Given the description of an element on the screen output the (x, y) to click on. 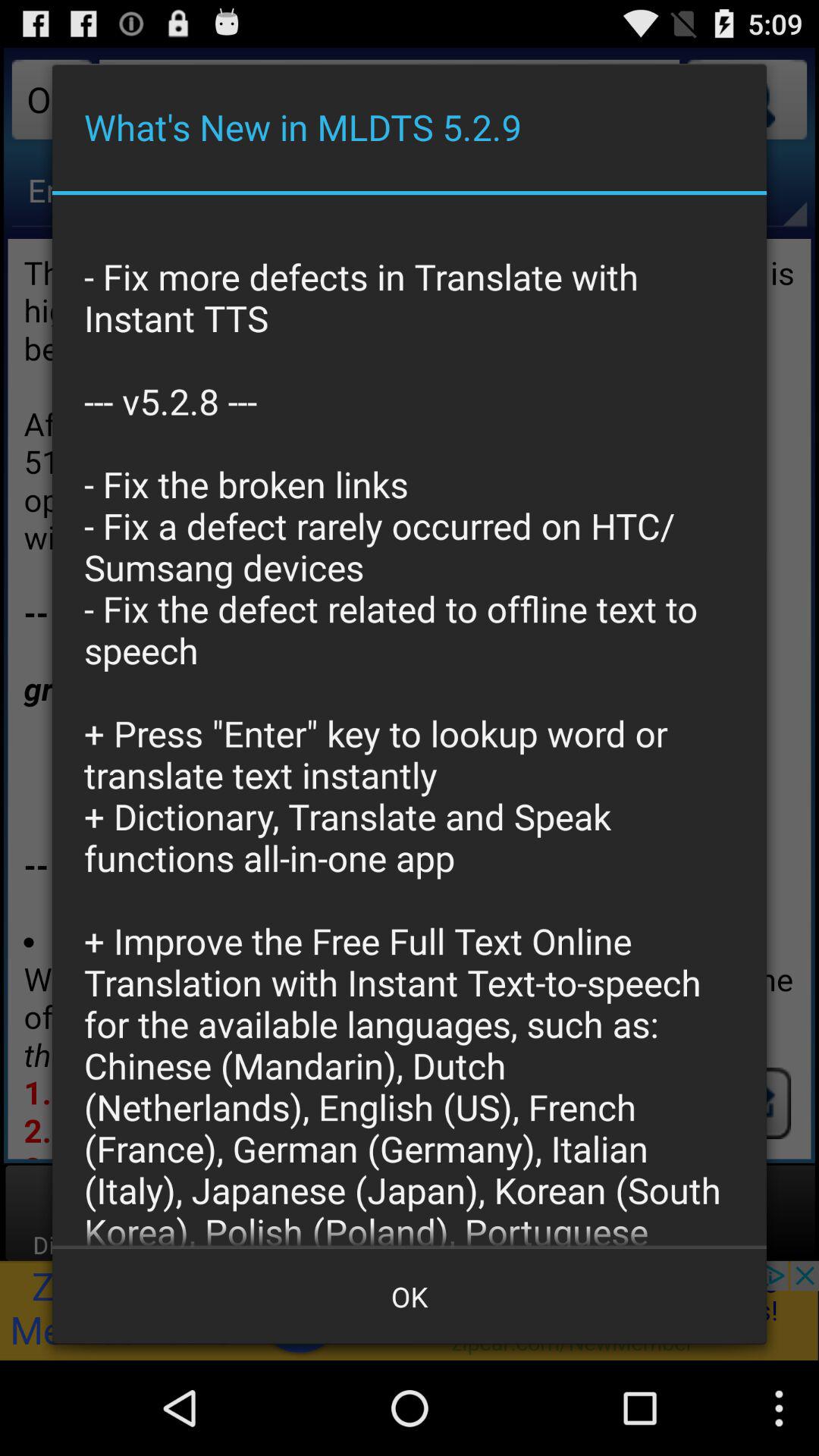
scroll until the ok item (409, 1296)
